Given the description of an element on the screen output the (x, y) to click on. 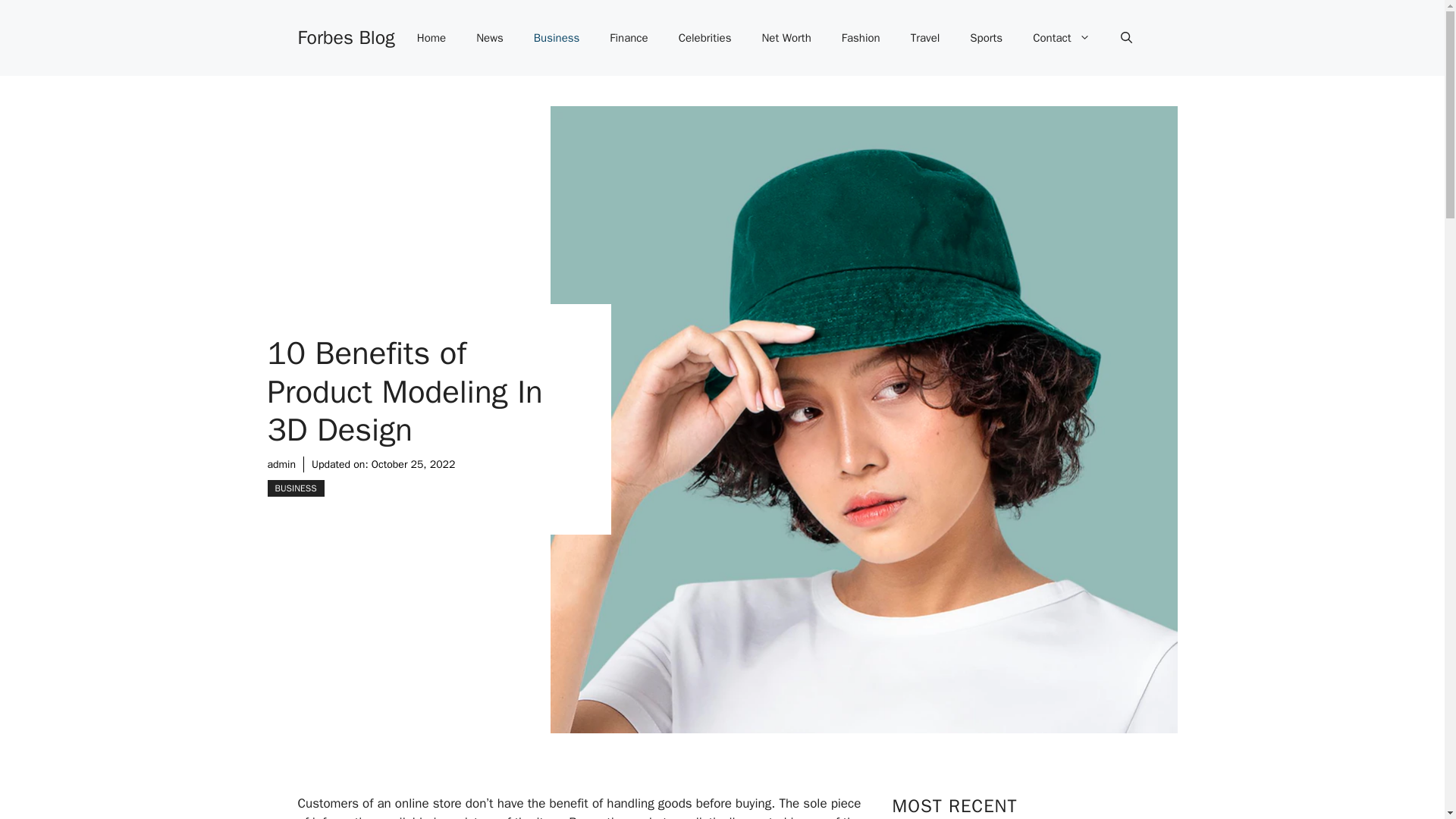
Celebrities (704, 37)
Travel (925, 37)
Business (556, 37)
News (489, 37)
Home (431, 37)
Net Worth (785, 37)
Fashion (861, 37)
admin (280, 463)
Forbes Blog (345, 37)
Finance (628, 37)
